Given the description of an element on the screen output the (x, y) to click on. 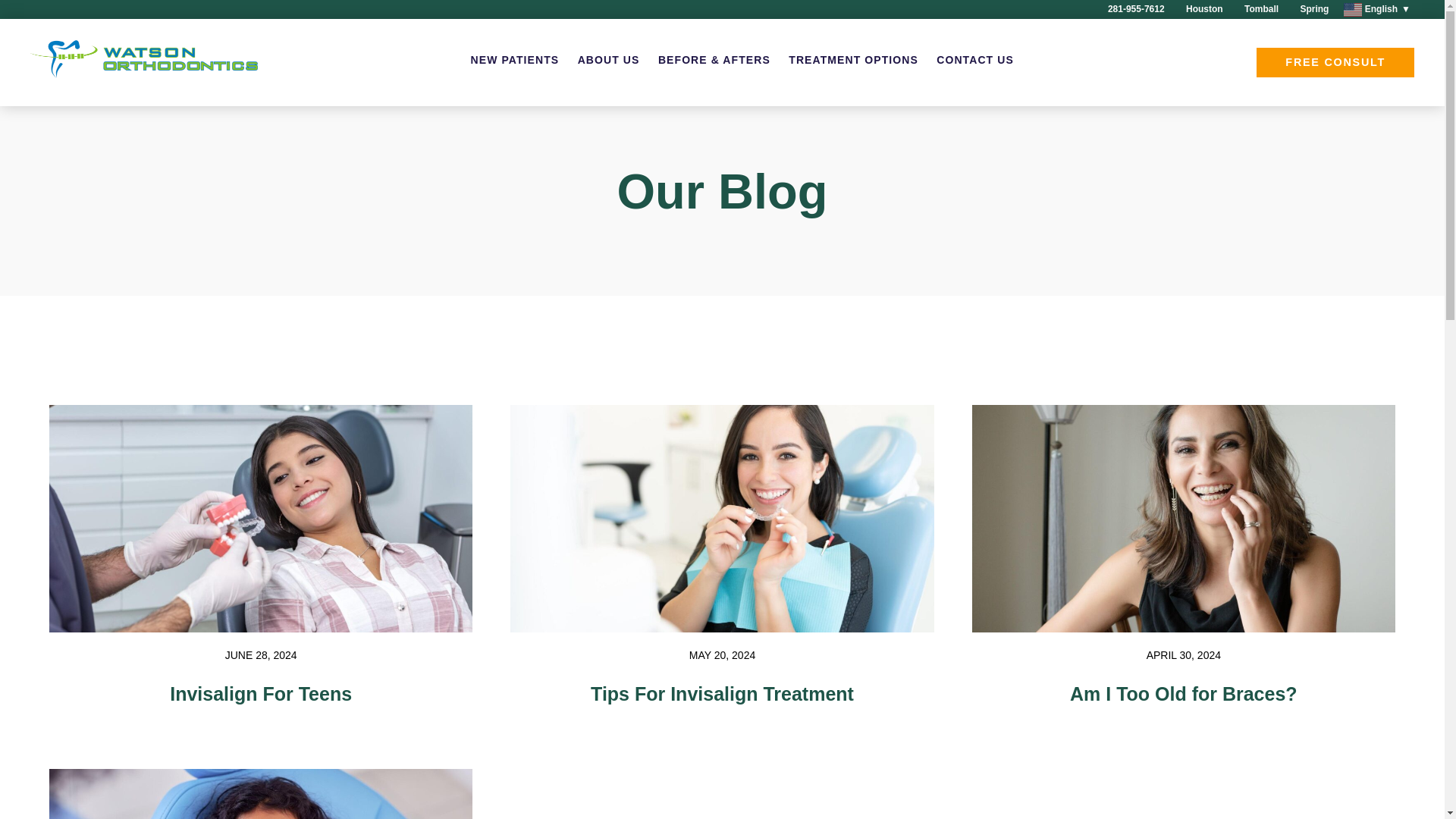
281-955-7612 (1133, 10)
CONTACT US (974, 60)
FREE CONSULT (1334, 61)
NEW PATIENTS (514, 60)
TREATMENT OPTIONS (853, 60)
ABOUT US (609, 60)
Spring (1310, 10)
Houston (1201, 10)
Tomball (1258, 10)
schedule a free exam (1334, 61)
Logo (143, 62)
